Given the description of an element on the screen output the (x, y) to click on. 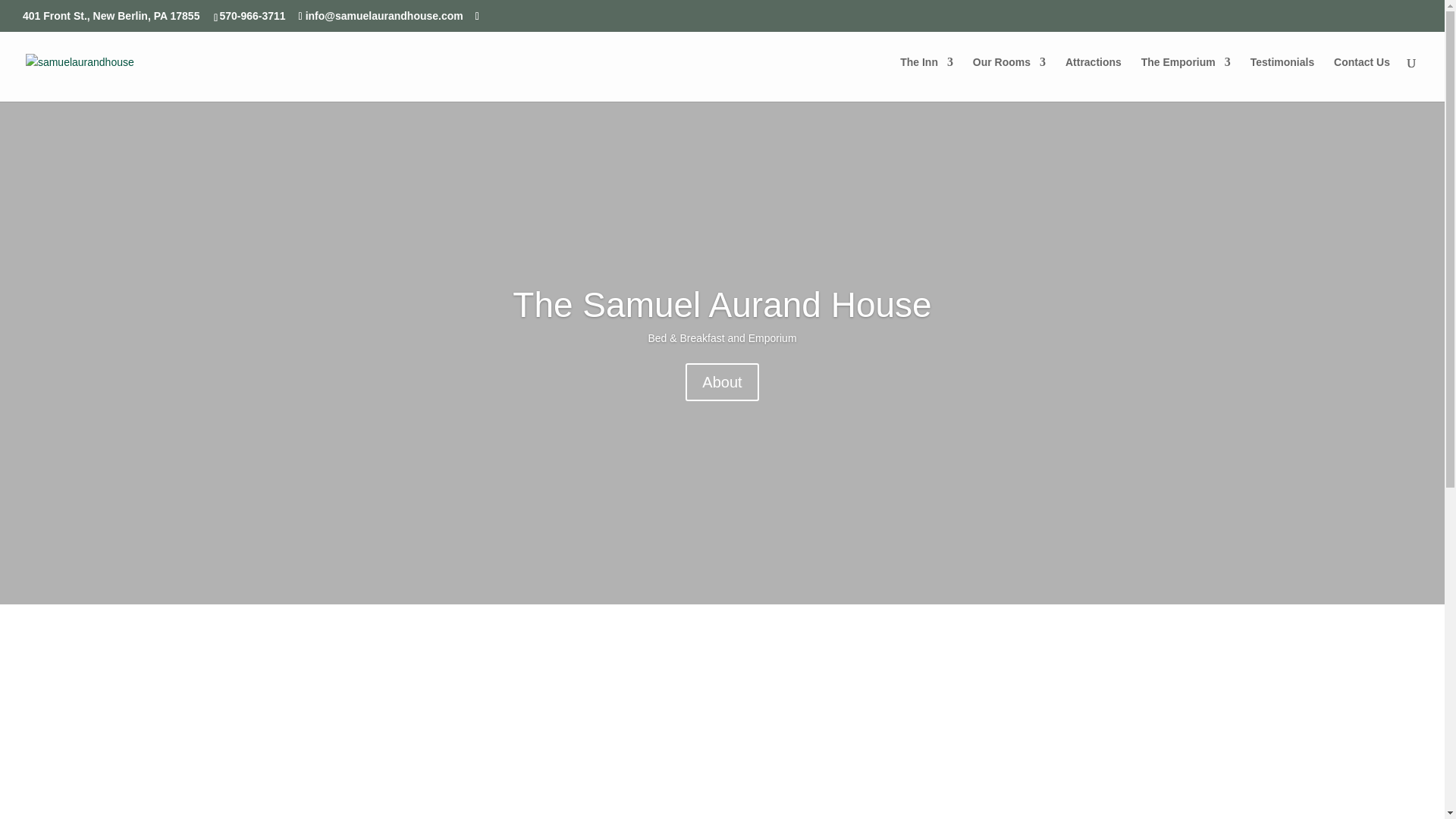
Contact Us (1361, 78)
Attractions (829, 767)
The Inn (926, 78)
Attractions (1093, 78)
Our Rooms (1008, 78)
The Samuel Aurand House (721, 304)
About (721, 382)
The Emporium (1045, 767)
The Inn (398, 767)
The Emporium (1185, 78)
Testimonials (1282, 78)
